Given the description of an element on the screen output the (x, y) to click on. 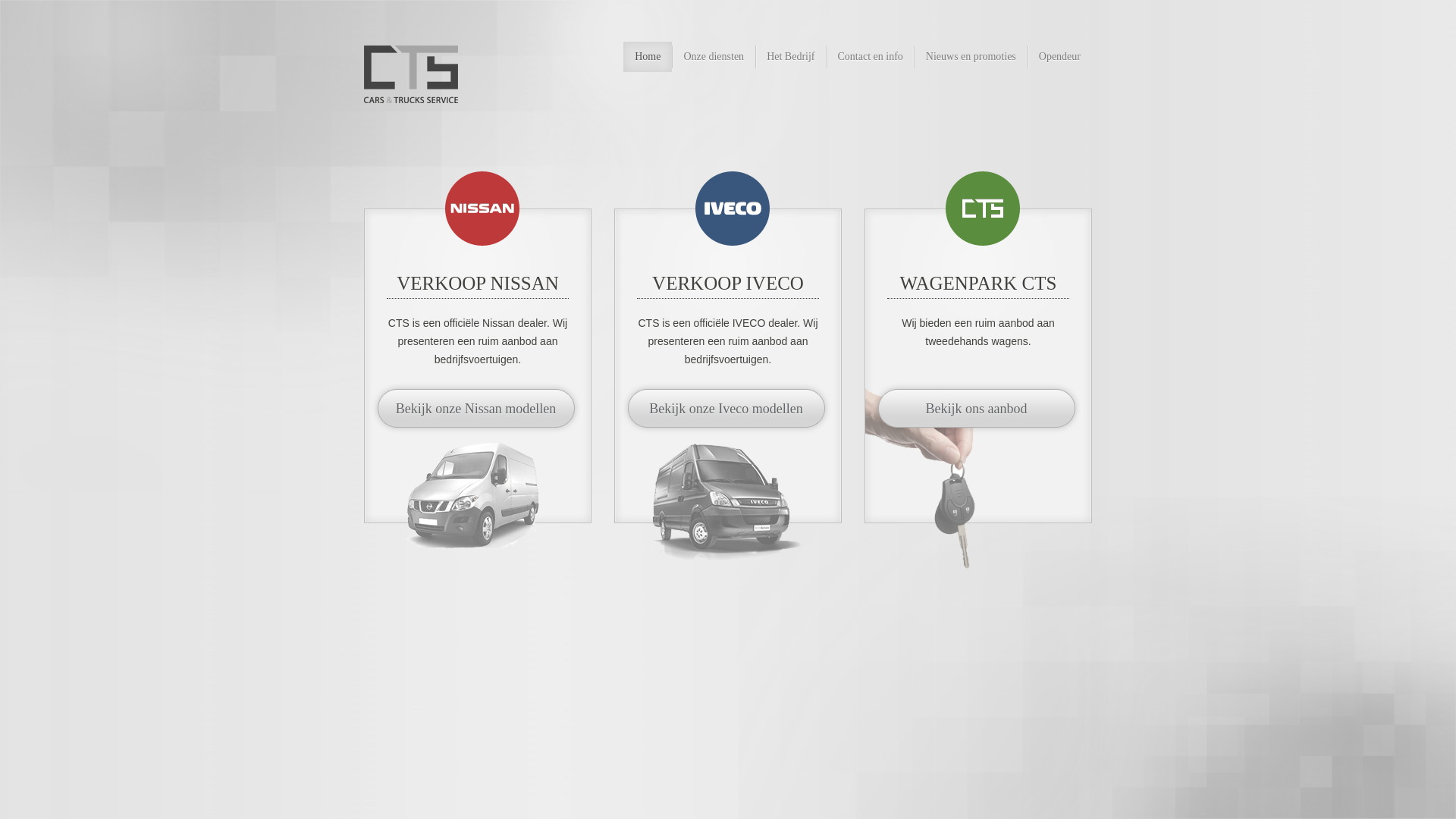
Contact en info Element type: text (870, 56)
Het Bedrijf Element type: text (790, 56)
Home Element type: text (647, 56)
Bekijk ons aanbod Element type: text (976, 408)
Opendeur Element type: text (1059, 56)
Nieuws en promoties Element type: text (970, 56)
Bekijk onze Iveco modellen Element type: text (726, 408)
Onze diensten Element type: text (713, 56)
Bekijk onze Nissan modellen Element type: text (475, 408)
